Given the description of an element on the screen output the (x, y) to click on. 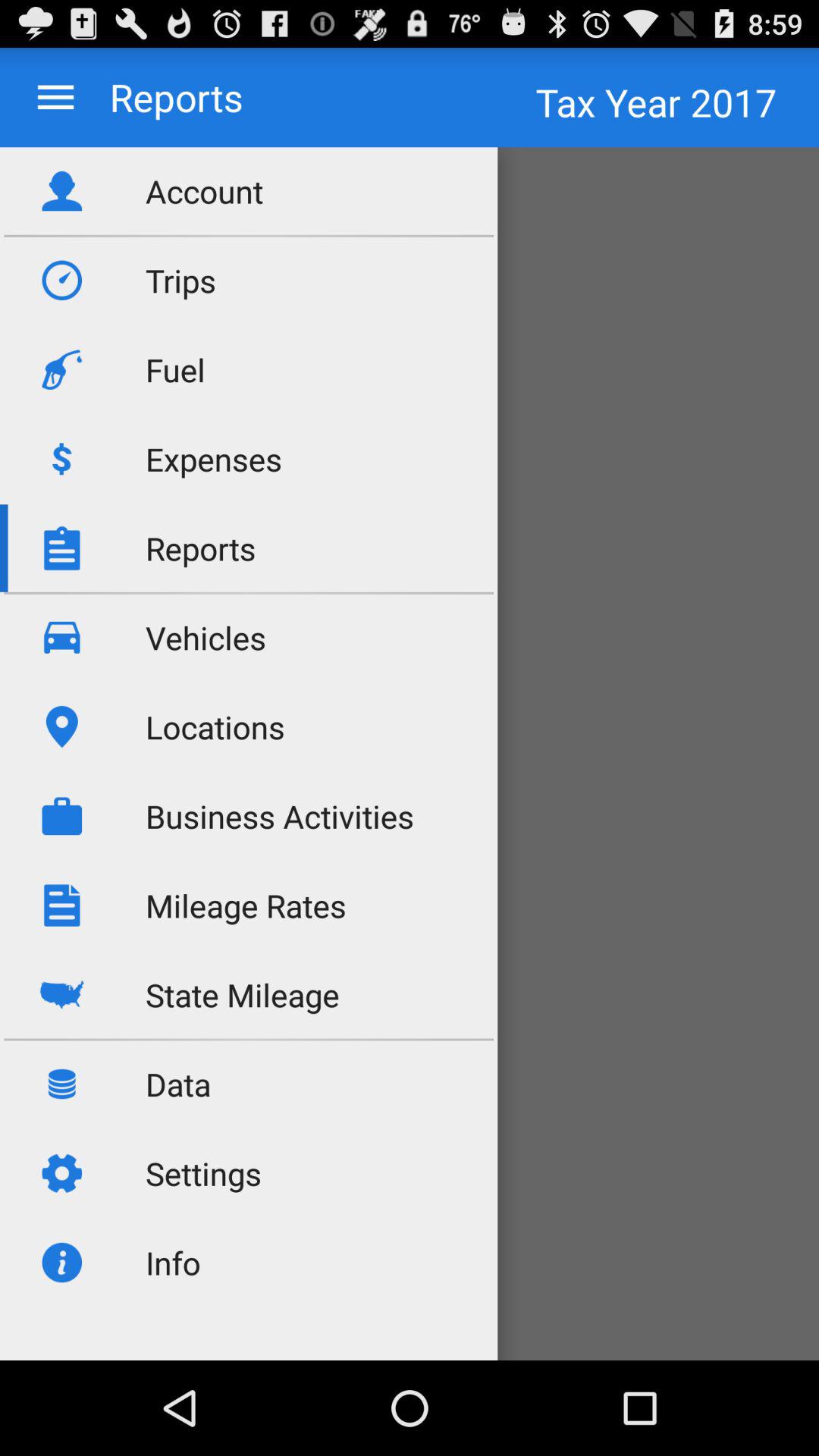
scroll to expenses item (213, 458)
